Given the description of an element on the screen output the (x, y) to click on. 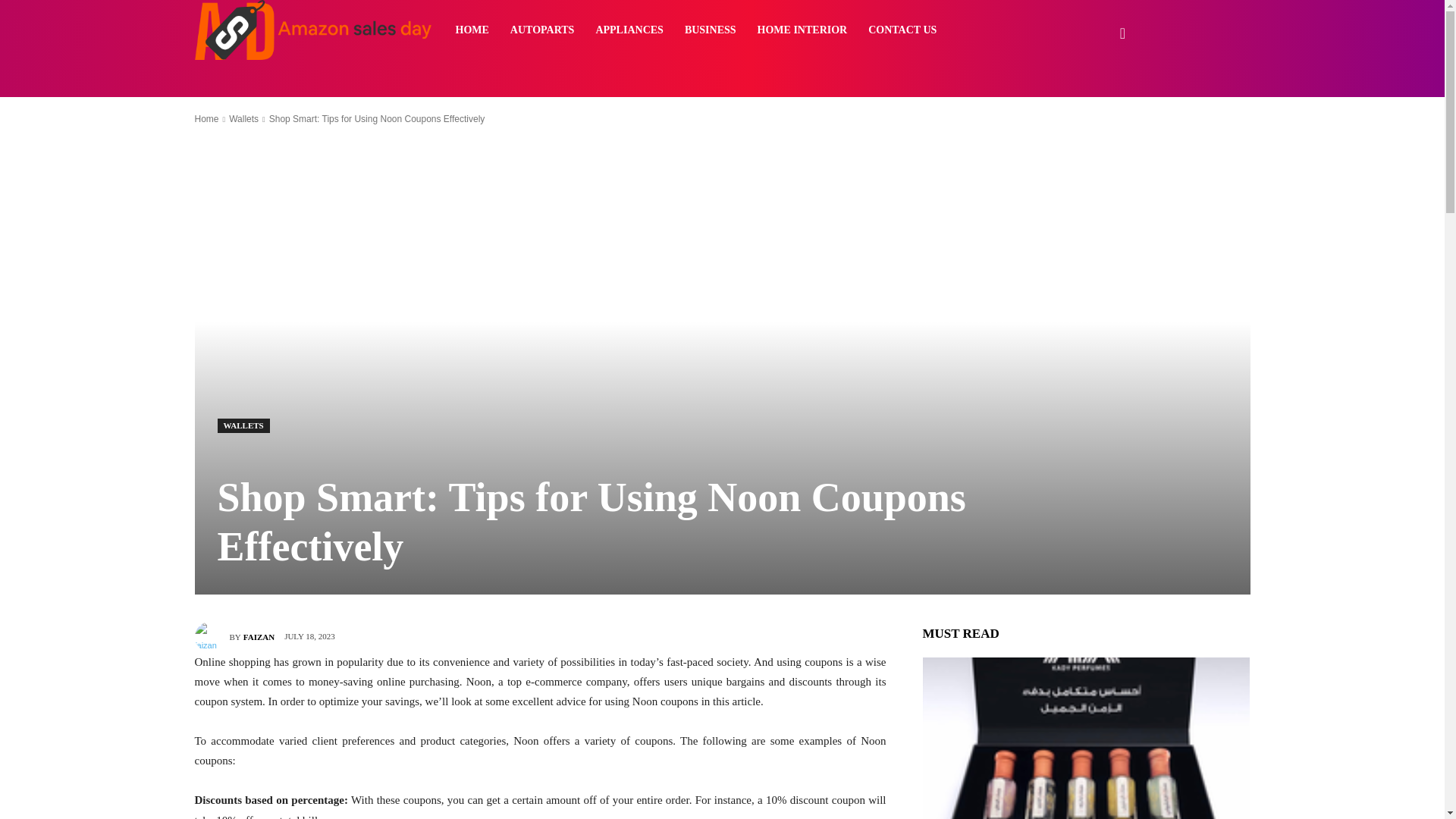
View all posts in Wallets (243, 118)
AUTOPARTS (542, 30)
HOME INTERIOR (802, 30)
faizan (210, 636)
Home (205, 118)
Wallets (243, 118)
APPLIANCES (628, 30)
FAIZAN (259, 636)
WALLETS (242, 425)
HOME (471, 30)
CONTACT US (902, 30)
BUSINESS (710, 30)
